Given the description of an element on the screen output the (x, y) to click on. 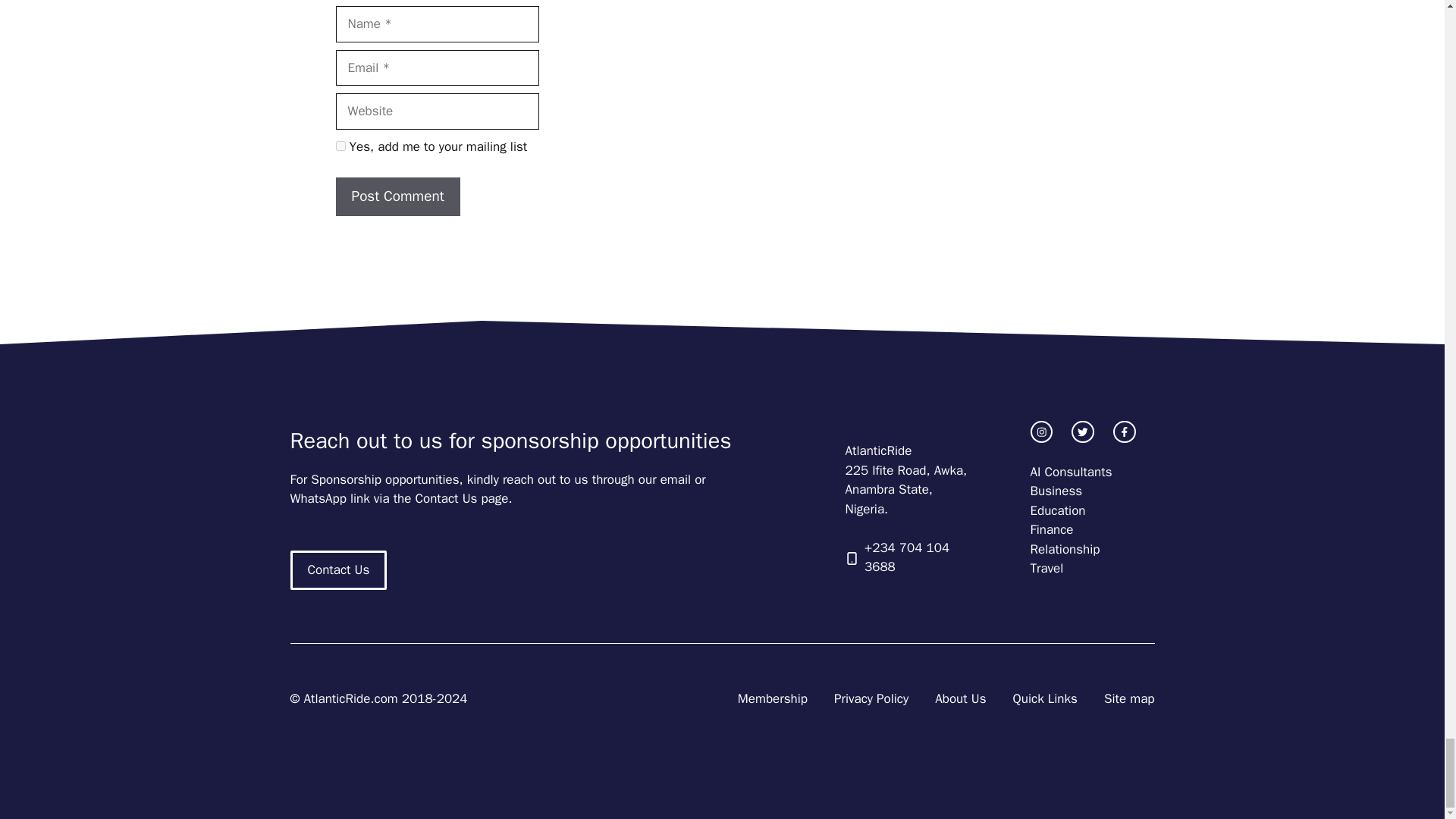
Post Comment (397, 196)
1 (339, 145)
